Given the description of an element on the screen output the (x, y) to click on. 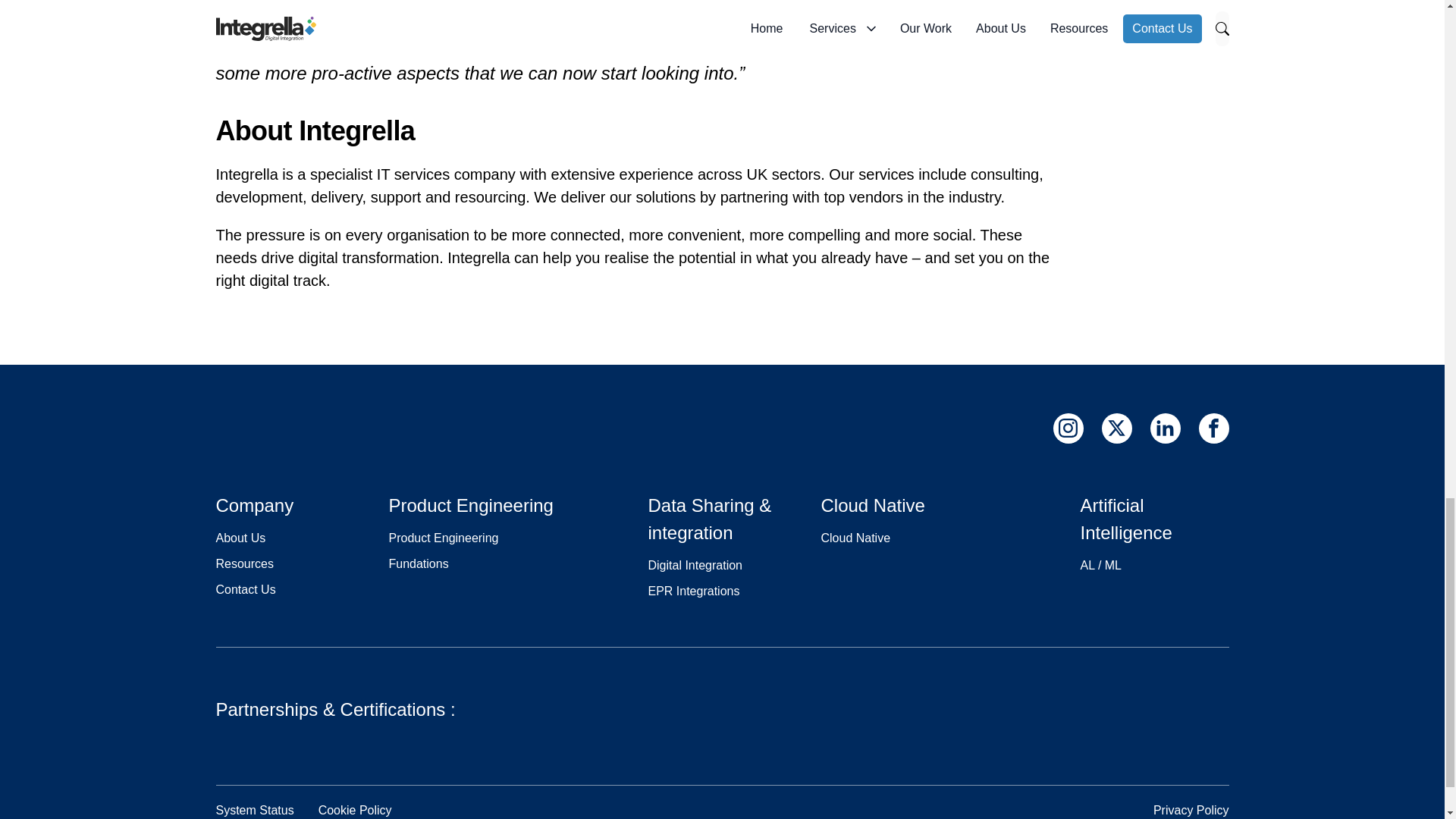
Product Engineering (442, 537)
Privacy Policy (1190, 809)
EPR Integrations (693, 590)
digital transformation (368, 257)
Digital Integration (694, 564)
Cookie Policy (354, 809)
Resources (244, 563)
Contact Us (245, 589)
About Us (239, 537)
Cloud Native (855, 537)
